Given the description of an element on the screen output the (x, y) to click on. 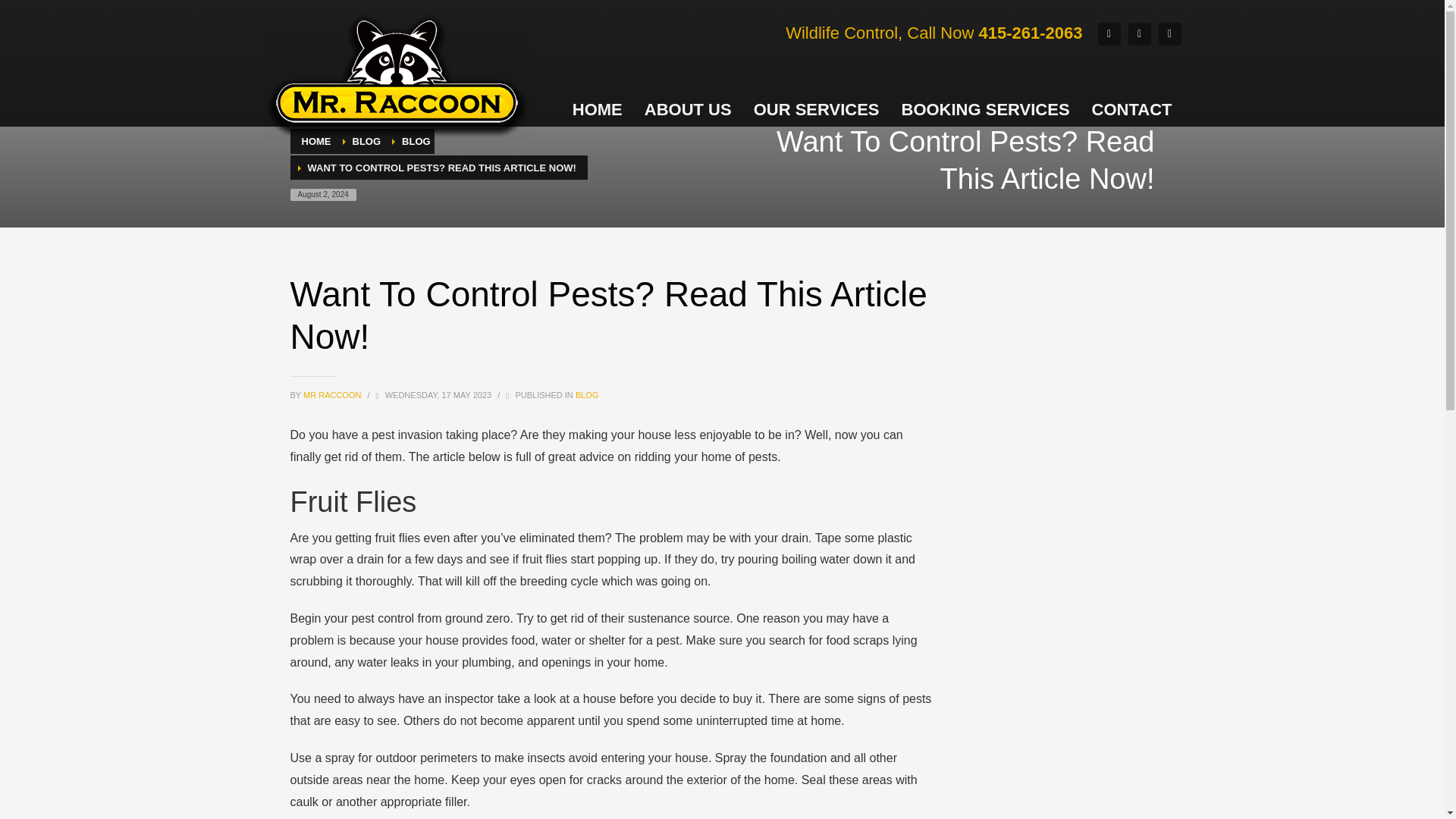
MR RACCOON (332, 394)
BOOKING SERVICES (984, 109)
HOME (597, 109)
BLOG (366, 141)
Facebook (1109, 33)
BLOG (415, 141)
HOME (316, 141)
CONTACT (1131, 109)
ABOUT US (687, 109)
BLOG (586, 394)
Blog (366, 141)
415-261-2063 (1029, 31)
Yelp (1169, 33)
OUR SERVICES (816, 109)
Google Plus (1139, 33)
